Given the description of an element on the screen output the (x, y) to click on. 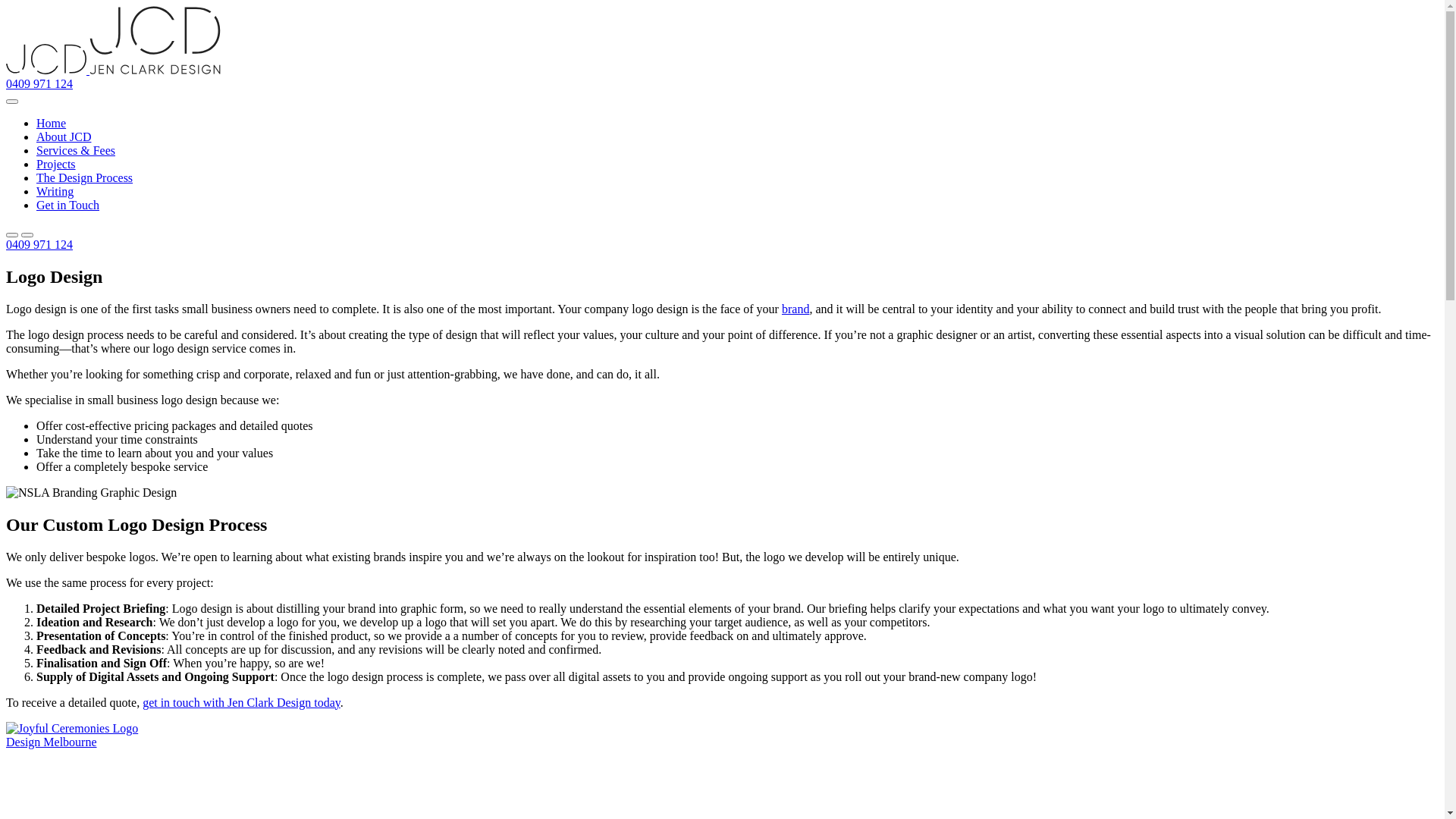
0409 971 124 Element type: text (39, 83)
brand Element type: text (795, 308)
The Design Process Element type: text (84, 177)
Joyful Ceremonies Logo Design Melbourne Element type: hover (87, 735)
Get in Touch Element type: text (67, 204)
Services & Fees Element type: text (75, 150)
Writing Element type: text (54, 191)
About JCD Element type: text (63, 136)
Home Element type: text (50, 122)
0409 971 124 Element type: text (39, 244)
get in touch with Jen Clark Design today Element type: text (241, 702)
Projects Element type: text (55, 163)
